Given the description of an element on the screen output the (x, y) to click on. 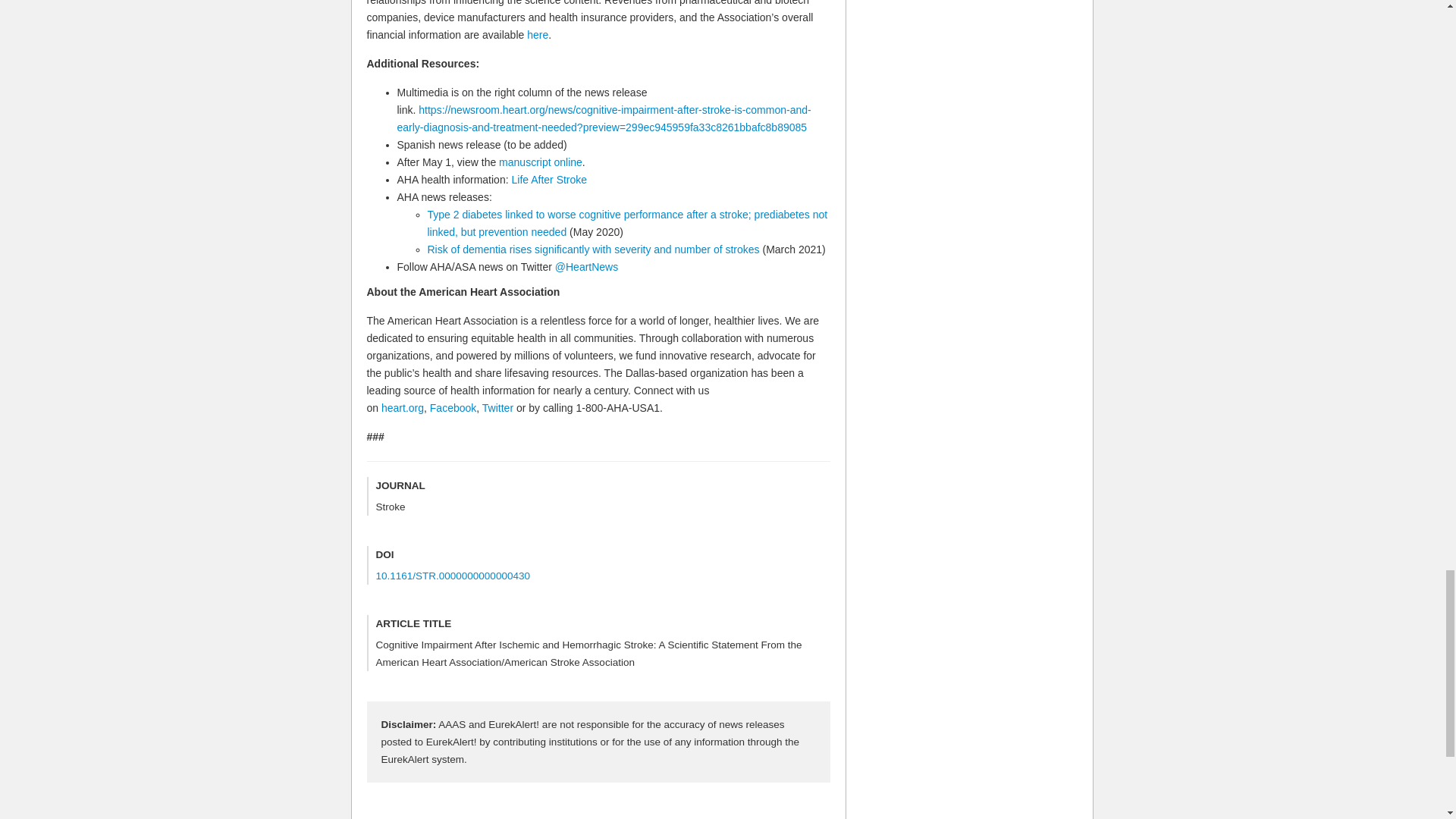
heart.org (402, 408)
Life After Stroke (548, 179)
manuscript online (540, 162)
Facebook (452, 408)
here (537, 34)
Twitter (497, 408)
